Given the description of an element on the screen output the (x, y) to click on. 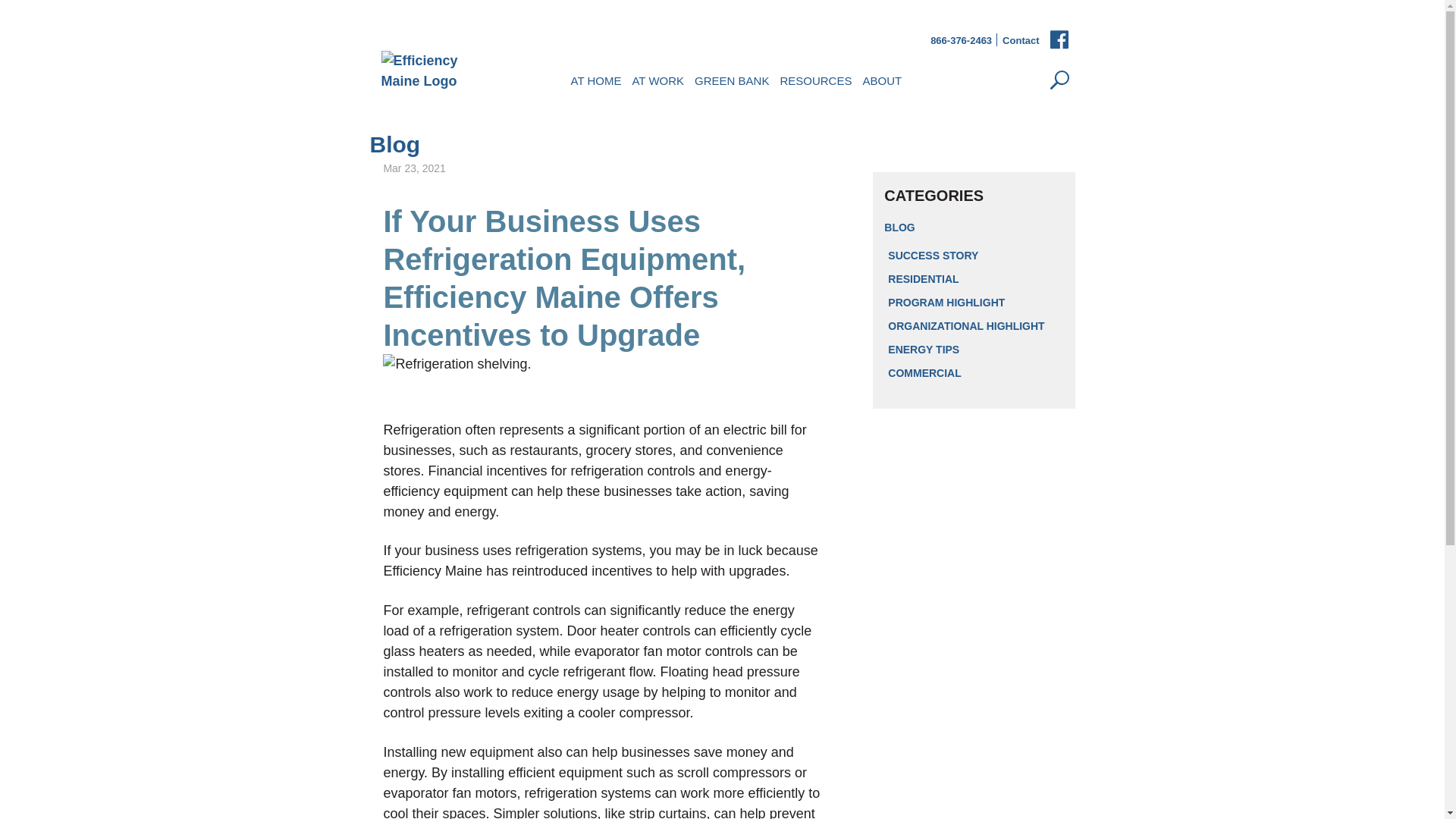
Efficiency Maine (434, 70)
Contact (1021, 40)
866-376-2463 (960, 40)
Search (1060, 79)
AT HOME (596, 78)
